Given the description of an element on the screen output the (x, y) to click on. 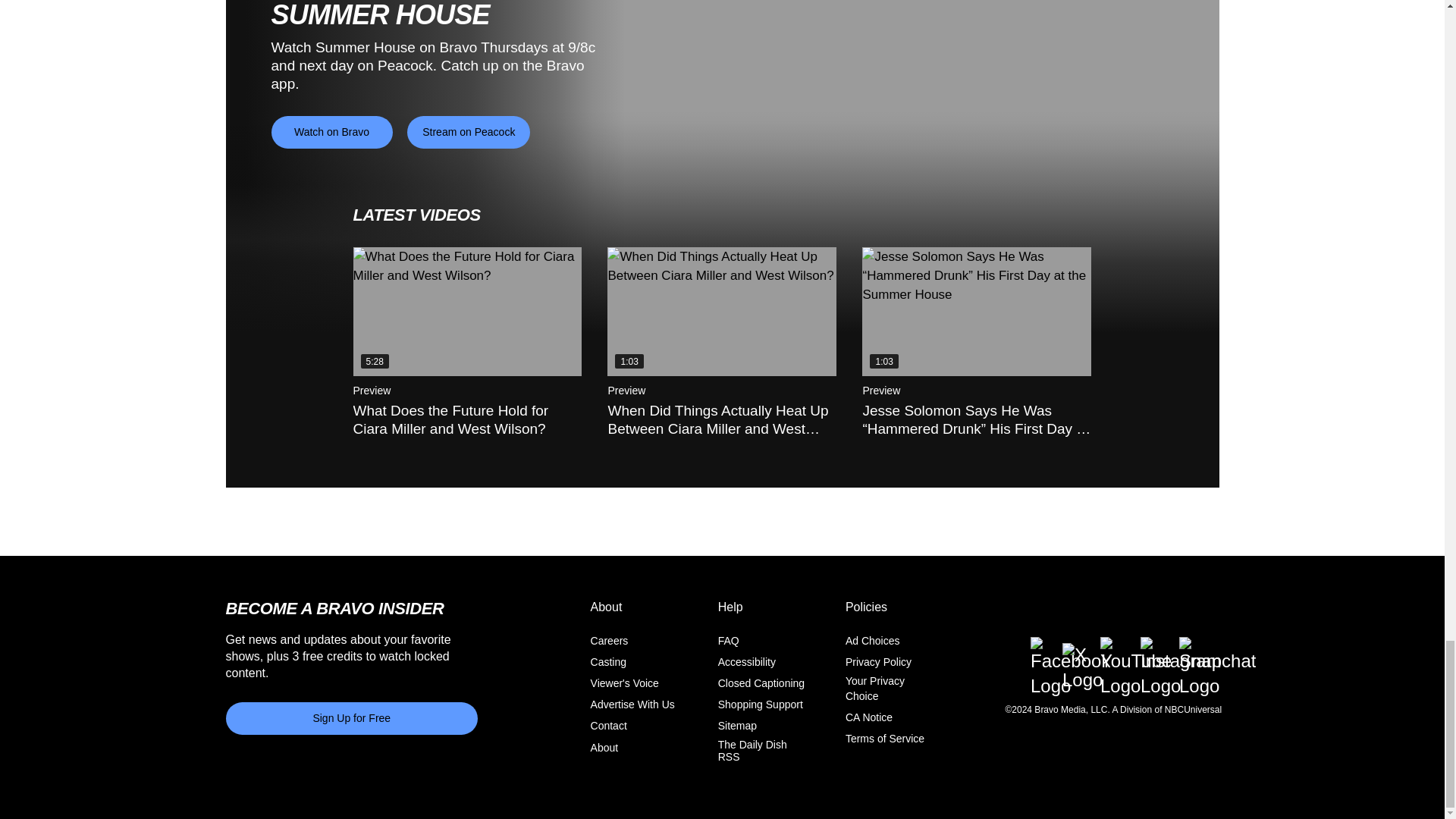
What Does the Future Hold for Ciara Miller and West Wilson? (467, 311)
Advertise With Us (633, 704)
